Given the description of an element on the screen output the (x, y) to click on. 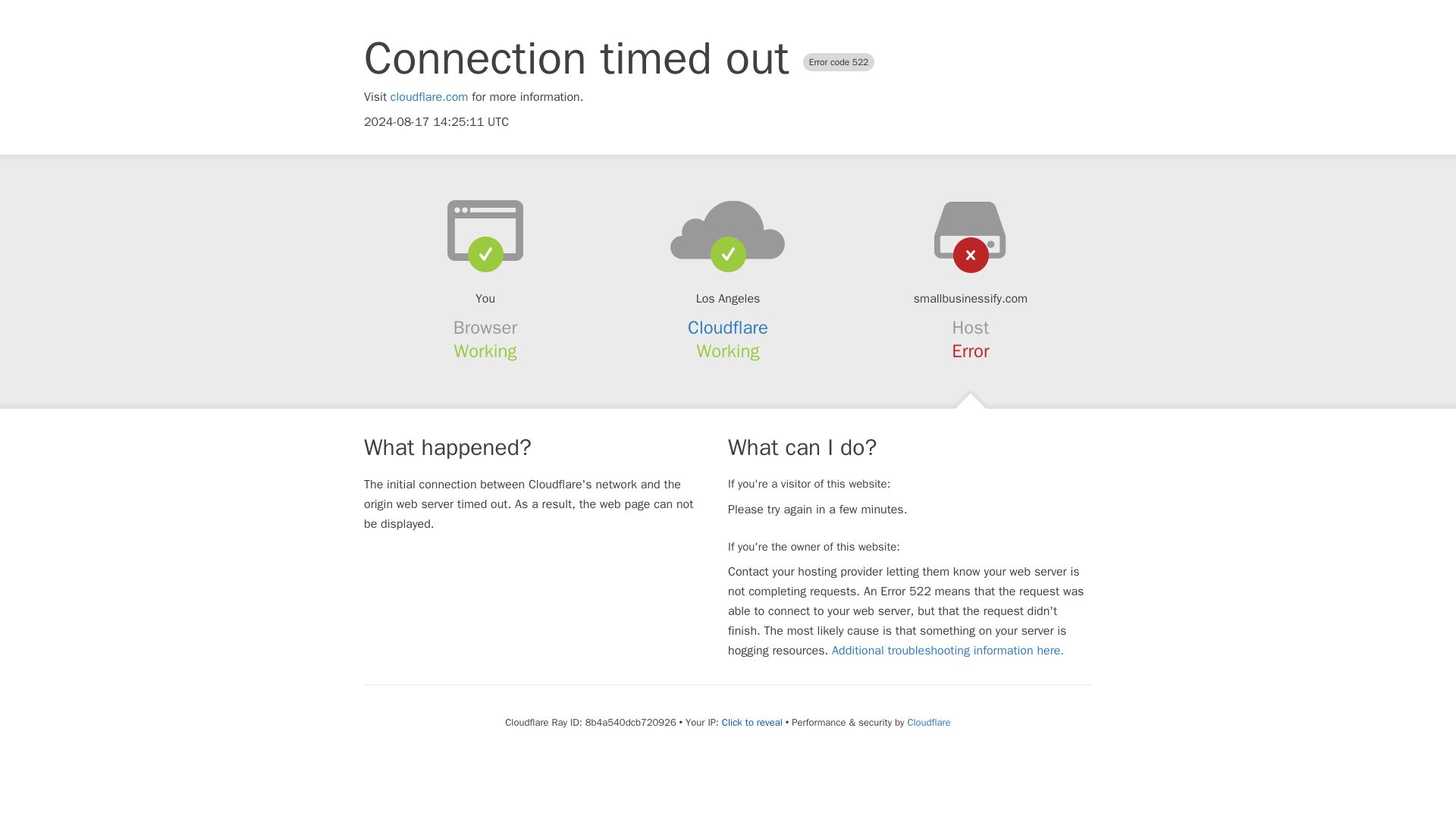
Click to reveal (752, 722)
Cloudflare (727, 327)
cloudflare.com (429, 96)
Additional troubleshooting information here. (947, 650)
Cloudflare (928, 721)
